Given the description of an element on the screen output the (x, y) to click on. 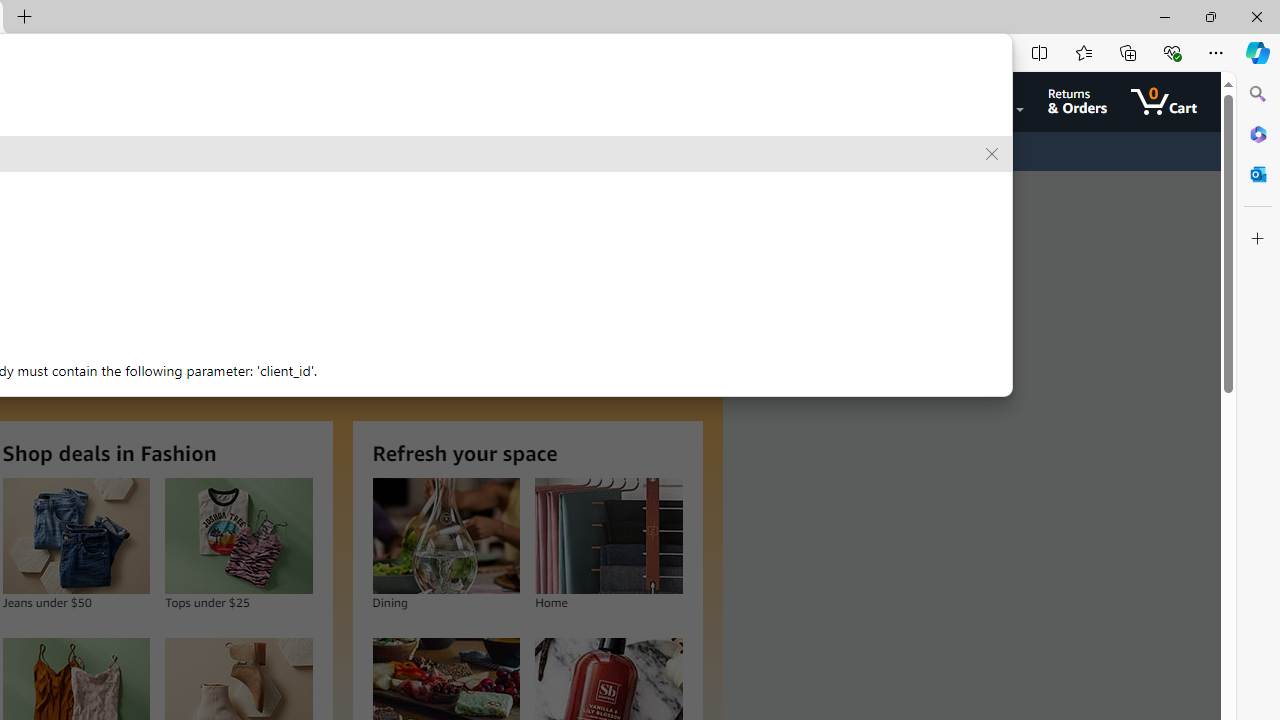
Tops under $25 (239, 536)
Next slide (680, 296)
Split screen (1039, 52)
Collections (1128, 52)
Settings and more (Alt+F) (1215, 52)
Customize (1258, 239)
0 items in cart (1163, 101)
Close Outlook pane (1258, 174)
Dining (445, 536)
Minimize (1164, 16)
Microsoft 365 (1258, 133)
Remove suggestion (991, 153)
Home (609, 536)
